Given the description of an element on the screen output the (x, y) to click on. 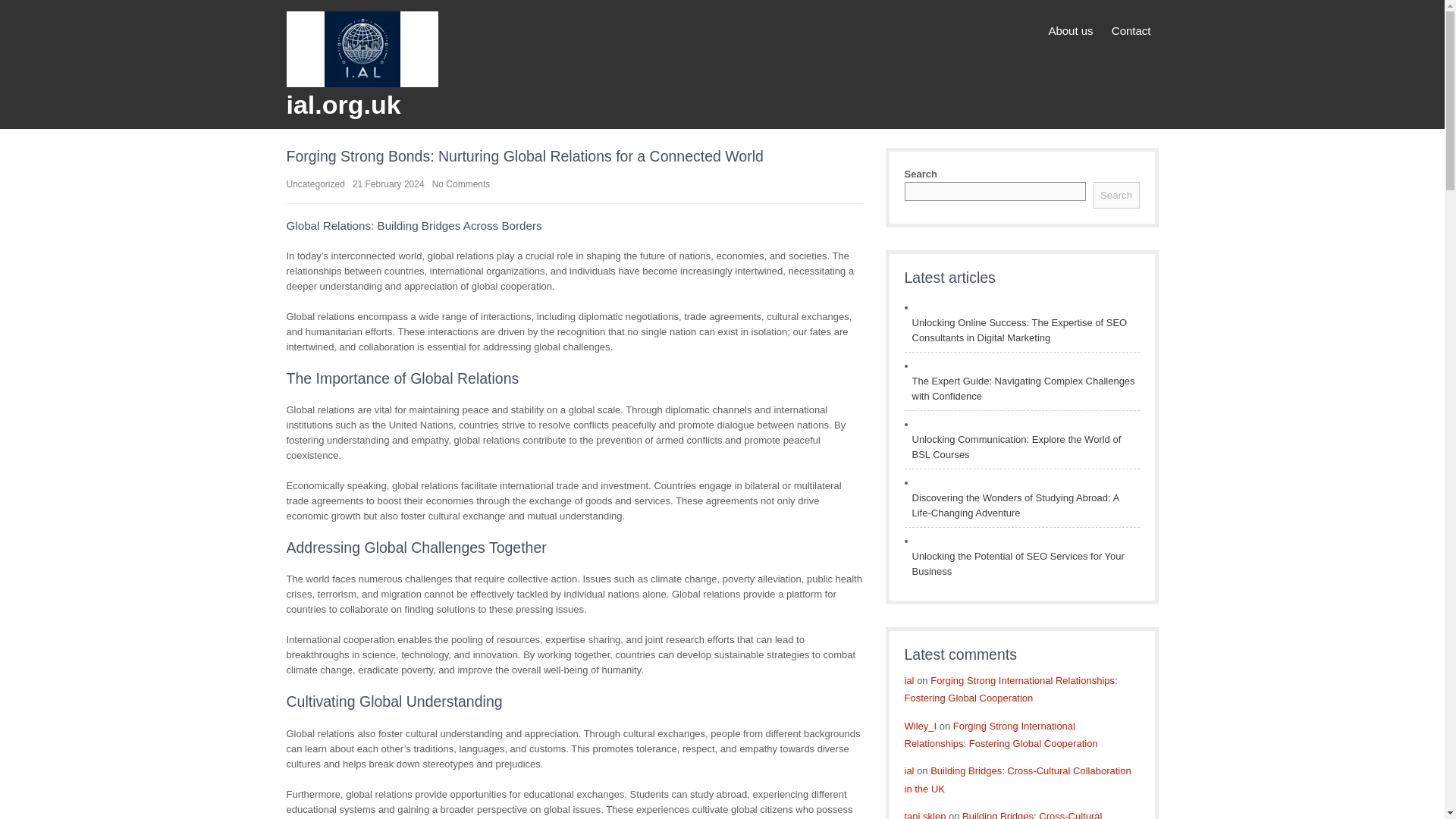
ial.org.uk (343, 104)
No Comments (461, 184)
Search (1116, 194)
About us (1070, 31)
Unlocking Communication: Explore the World of BSL Courses (1021, 447)
Uncategorized (315, 184)
